Given the description of an element on the screen output the (x, y) to click on. 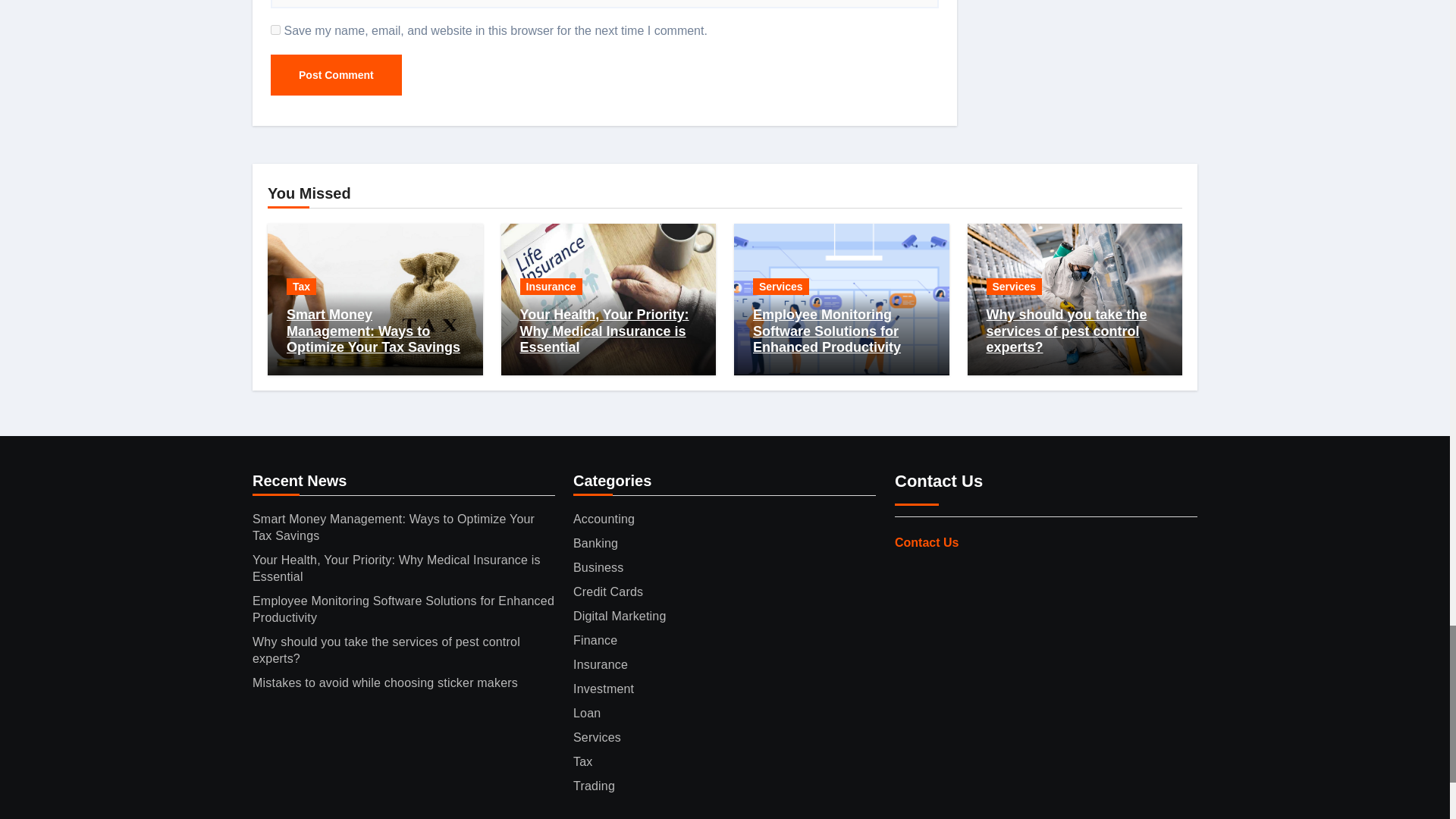
Post Comment (335, 74)
yes (275, 30)
